Given the description of an element on the screen output the (x, y) to click on. 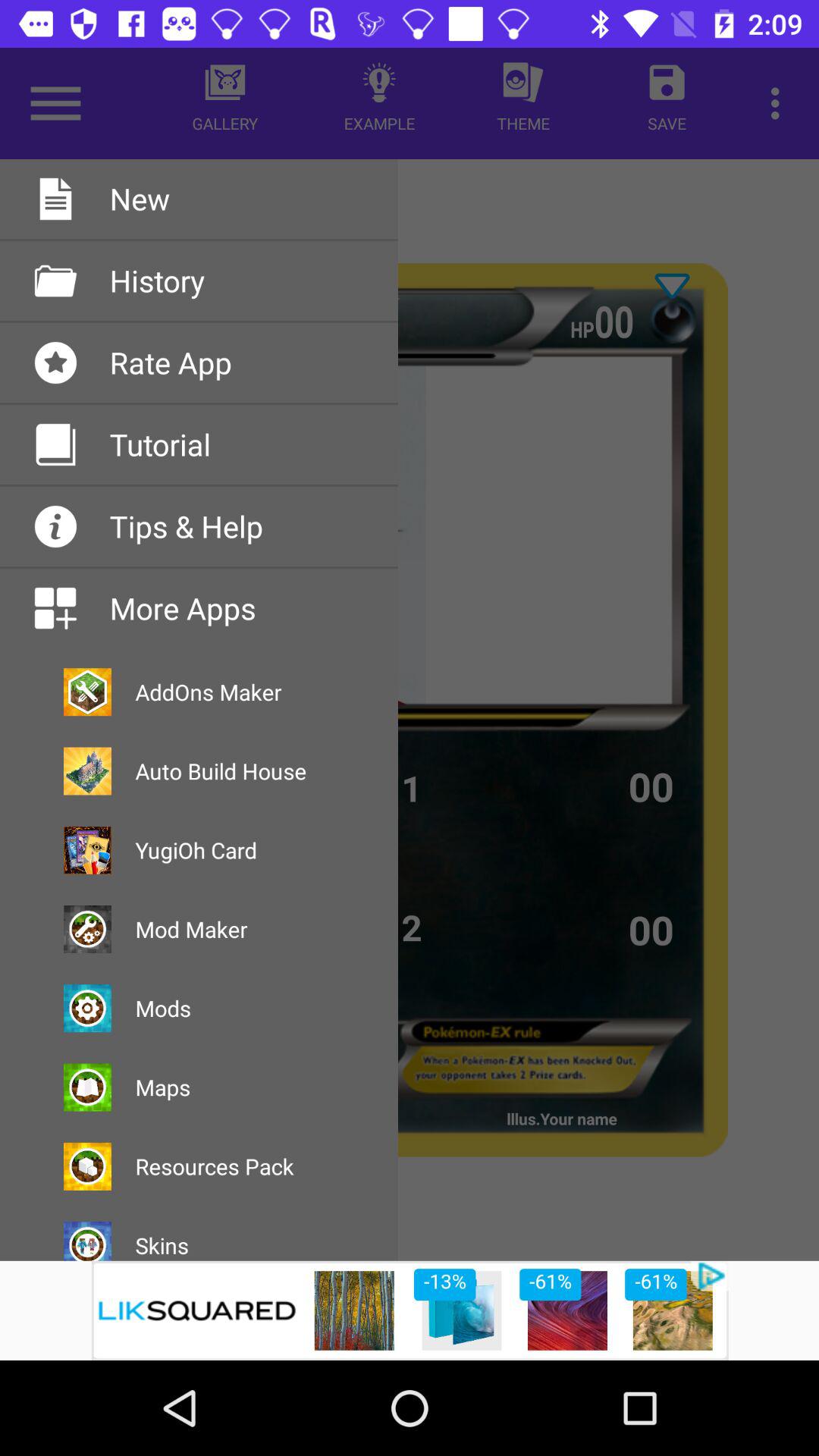
click on image next to skins (87, 1240)
click on the number 00 at right side of the number 2 (653, 929)
select the icon which is before resource pack (87, 1166)
